Given the description of an element on the screen output the (x, y) to click on. 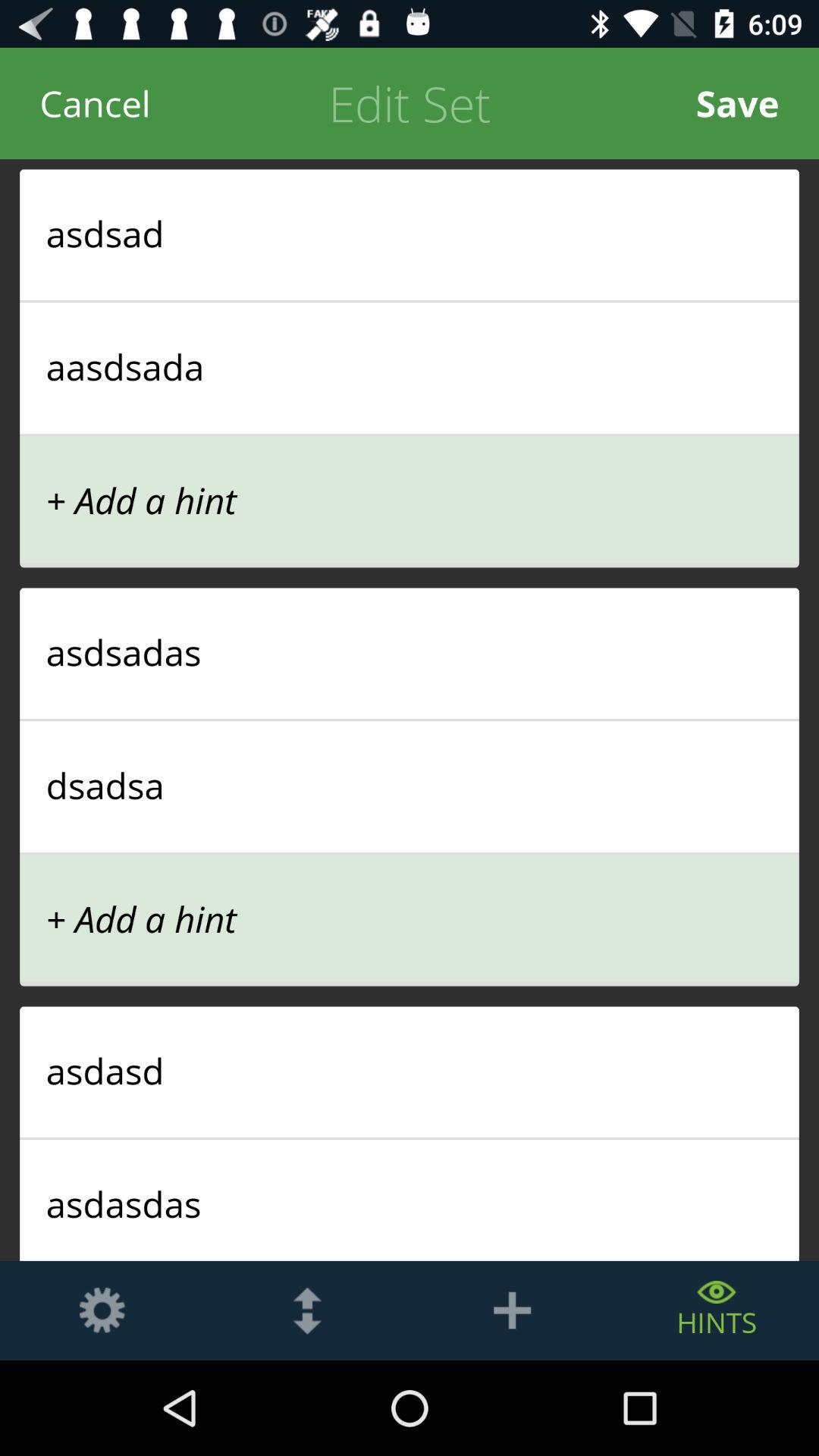
tap the item below the + add a hint icon (409, 651)
